Given the description of an element on the screen output the (x, y) to click on. 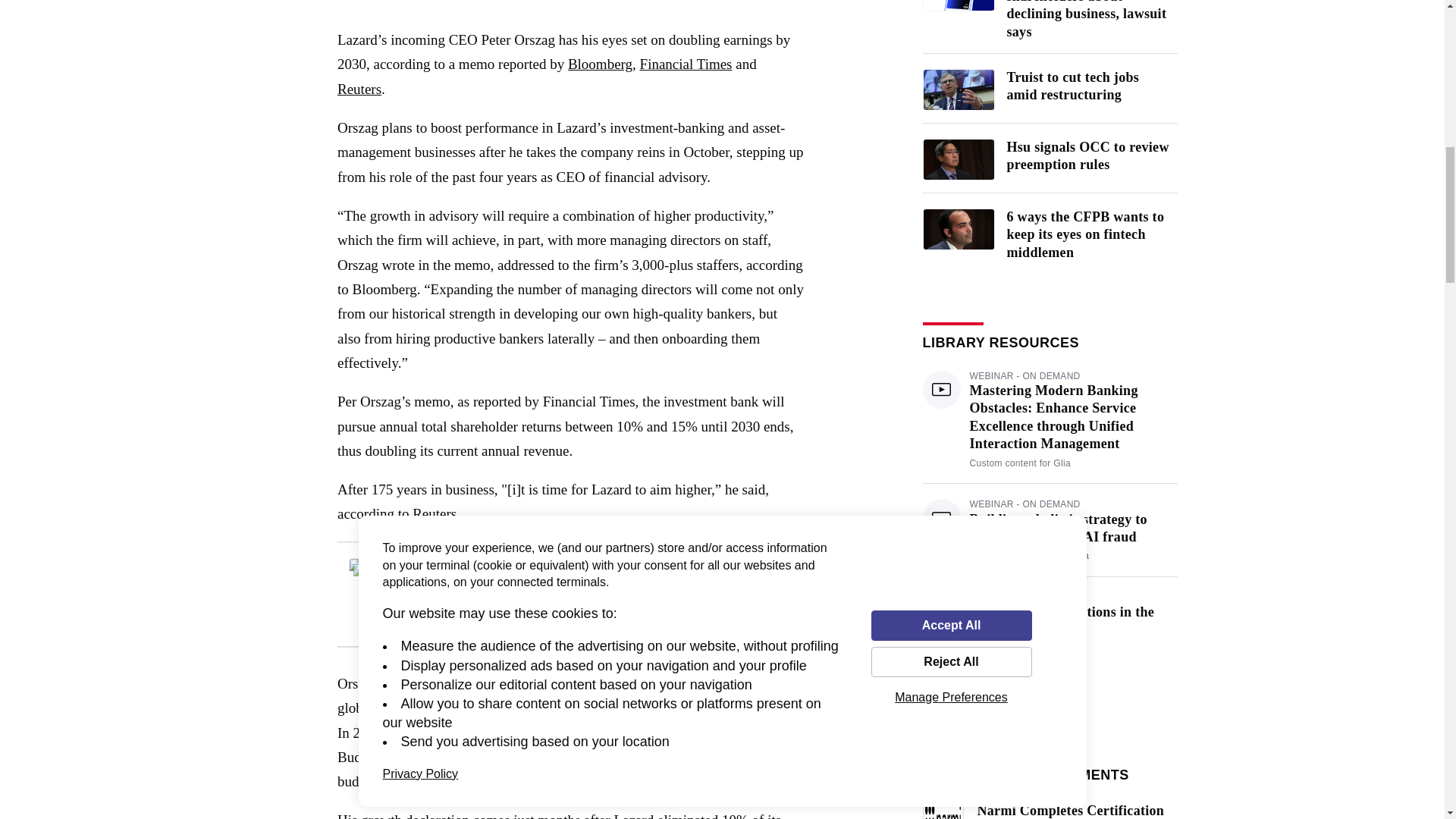
Financial Times (686, 64)
Bloomberg (599, 64)
